Given the description of an element on the screen output the (x, y) to click on. 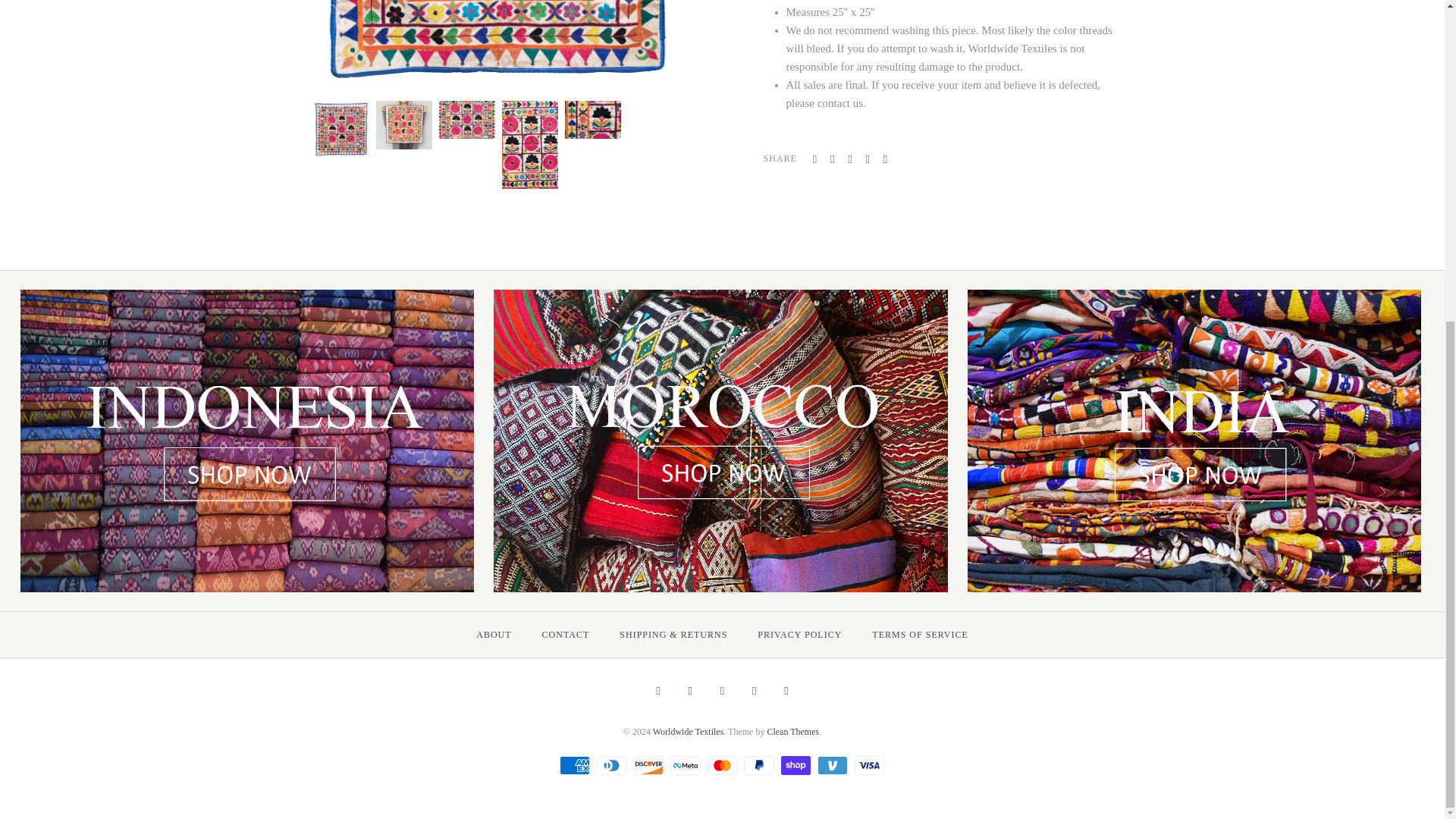
Share on Facebook (815, 159)
Vintage Indian Wall Hanging (590, 110)
Vintage Indian Wall Hanging (340, 110)
Vintage Indian Wall Hanging (528, 110)
Vintage Indian Wall Hanging (466, 110)
Vintage Indian Wall Hanging (403, 110)
